Given the description of an element on the screen output the (x, y) to click on. 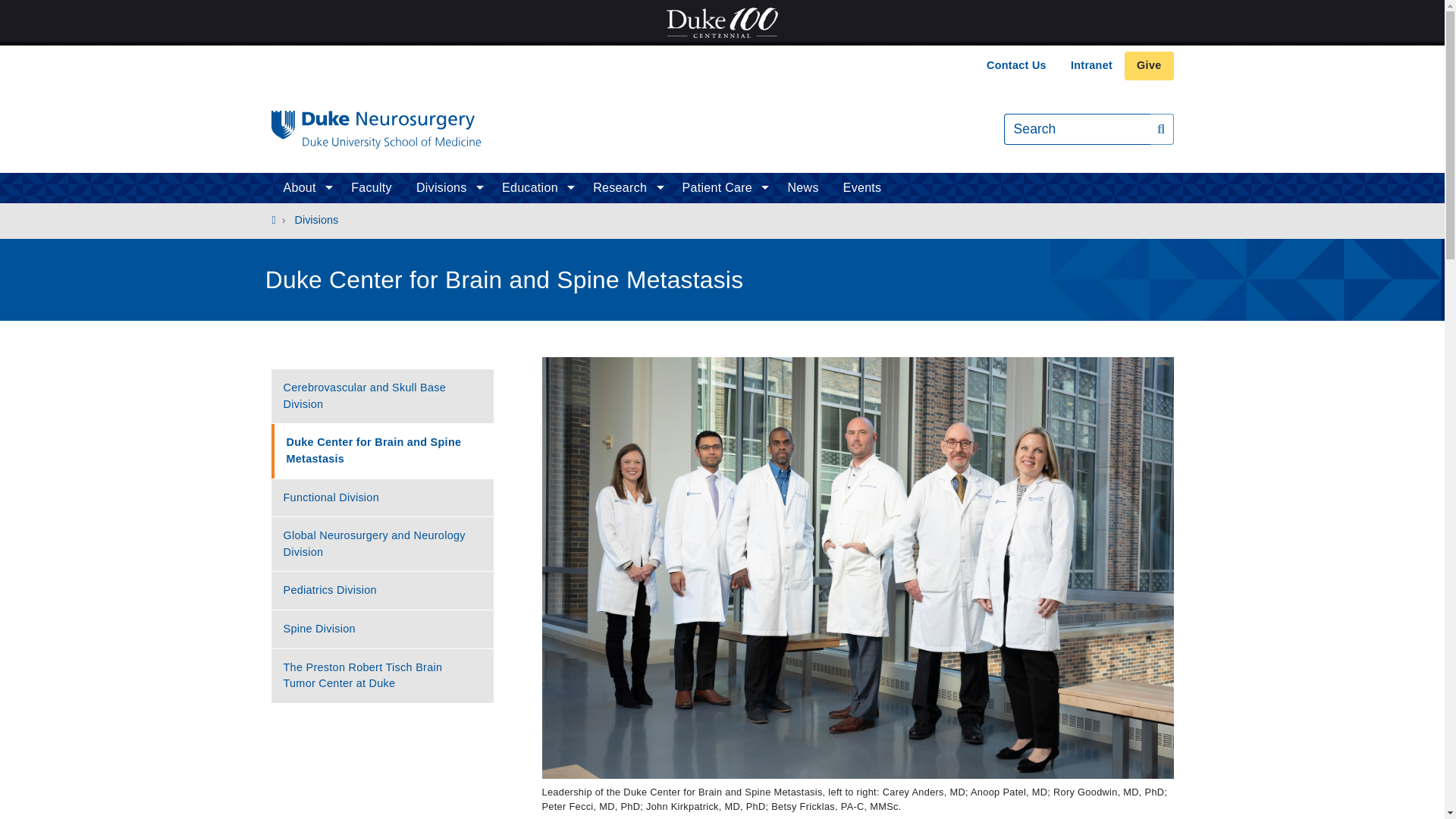
Home (375, 129)
Contact Us (1016, 65)
Research (624, 187)
Divisions (446, 187)
Intranet (1091, 65)
About (304, 187)
Faculty (371, 187)
Give (1148, 65)
Education (534, 187)
Skip to main content (721, 46)
Enter the terms you wish to search for. (1077, 128)
